Given the description of an element on the screen output the (x, y) to click on. 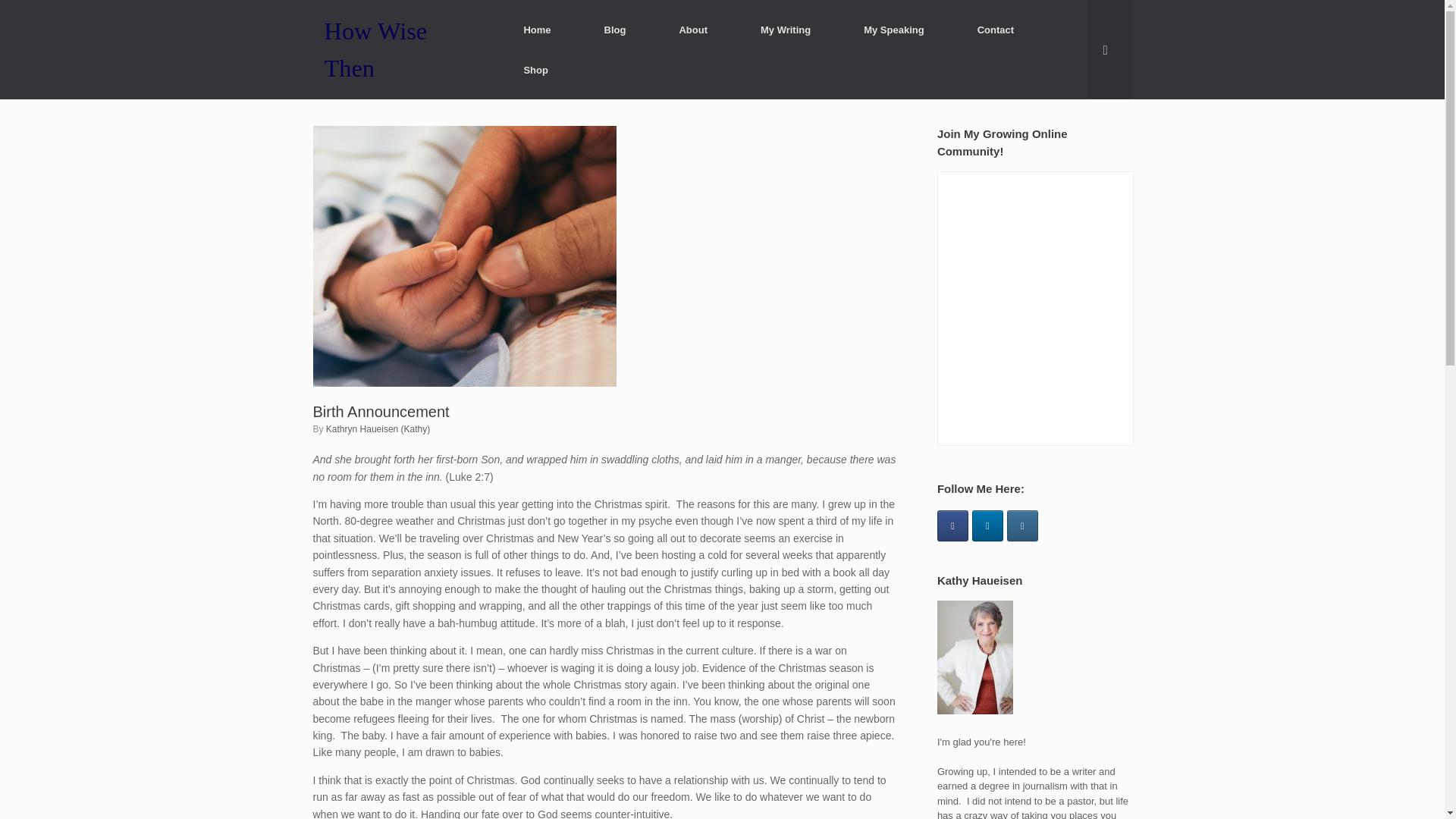
Shop (535, 69)
My Speaking (893, 29)
How Wise Then (398, 49)
Contact (995, 29)
Home (536, 29)
My Writing (785, 29)
How Wise Then on Instagram (1022, 525)
About (692, 29)
How Wise Then on Linkedin (987, 525)
How Wise Then (398, 49)
